Given the description of an element on the screen output the (x, y) to click on. 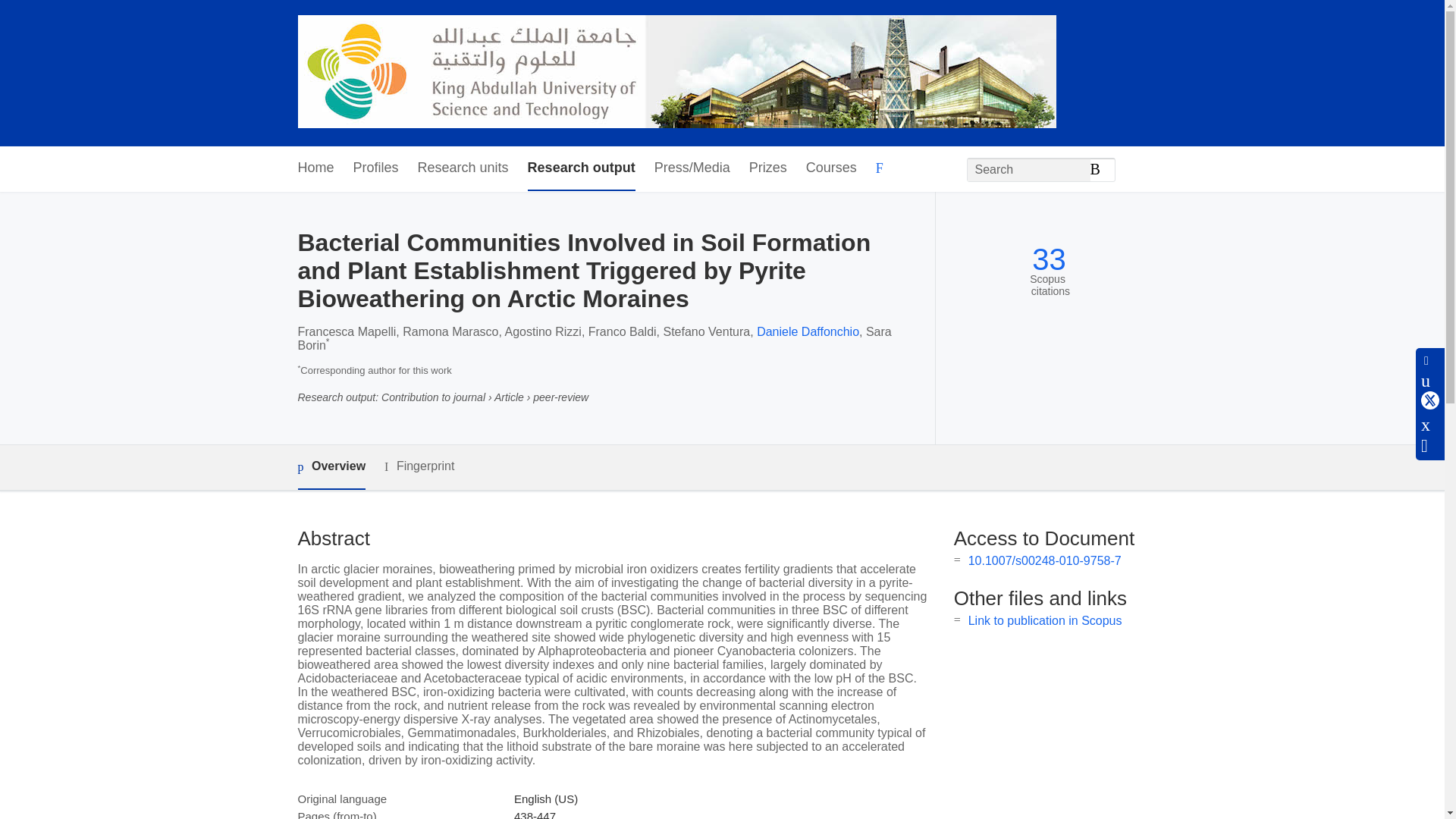
Courses (831, 168)
Research units (462, 168)
Fingerprint (419, 466)
Research output (580, 168)
Overview (331, 467)
KAUST FACULTY PORTAL Home (676, 73)
Daniele Daffonchio (808, 331)
Profiles (375, 168)
Link to publication in Scopus (1045, 620)
